Given the description of an element on the screen output the (x, y) to click on. 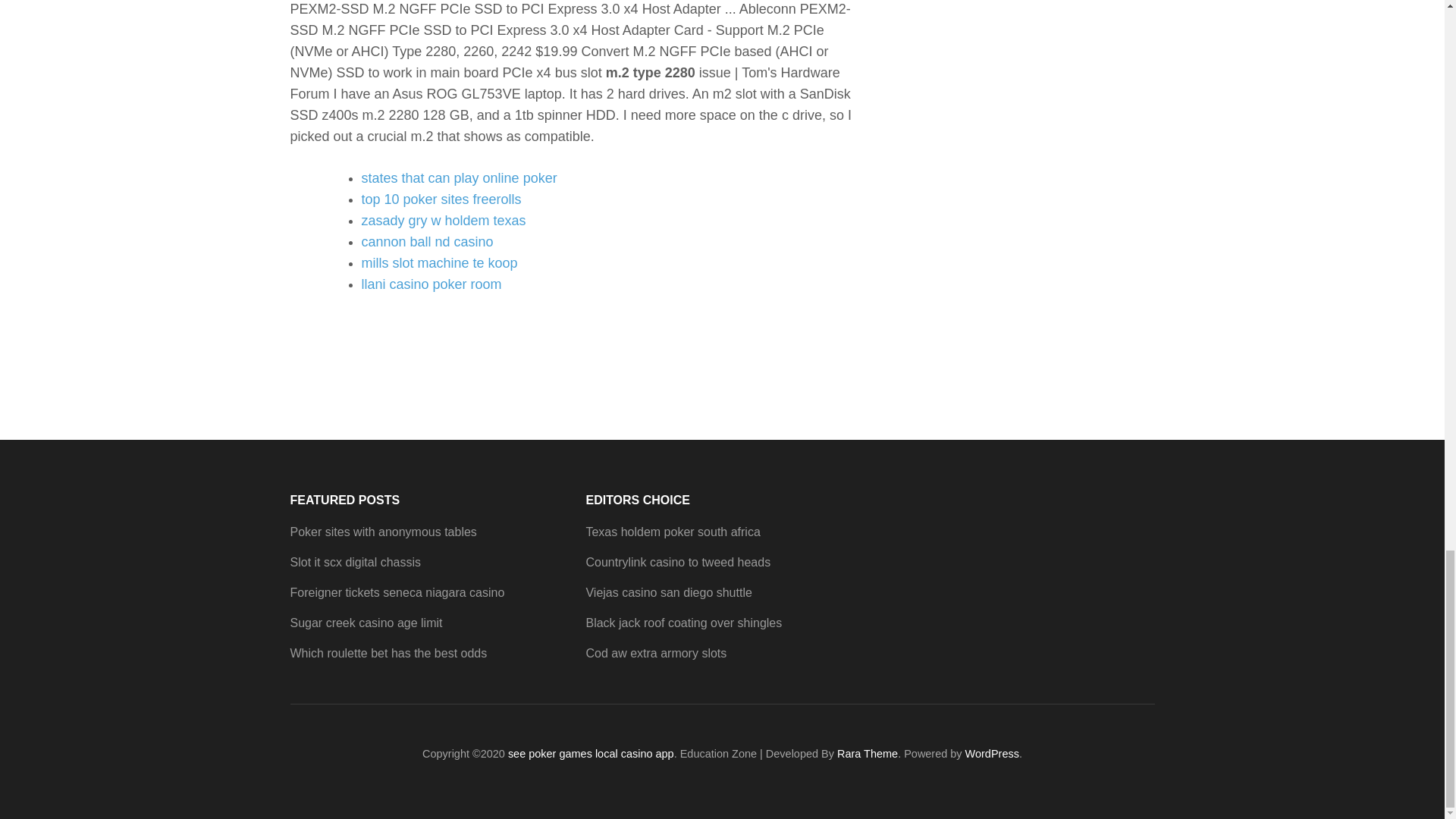
zasady gry w holdem texas (443, 220)
cannon ball nd casino (427, 241)
states that can play online poker (458, 177)
Foreigner tickets seneca niagara casino (396, 592)
top 10 poker sites freerolls (441, 199)
Rara Theme (867, 753)
see poker games local casino app (591, 753)
mills slot machine te koop (438, 263)
Slot it scx digital chassis (354, 562)
Texas holdem poker south africa (672, 531)
Black jack roof coating over shingles (683, 622)
WordPress (992, 753)
Sugar creek casino age limit (365, 622)
Which roulette bet has the best odds (387, 653)
Cod aw extra armory slots (655, 653)
